Given the description of an element on the screen output the (x, y) to click on. 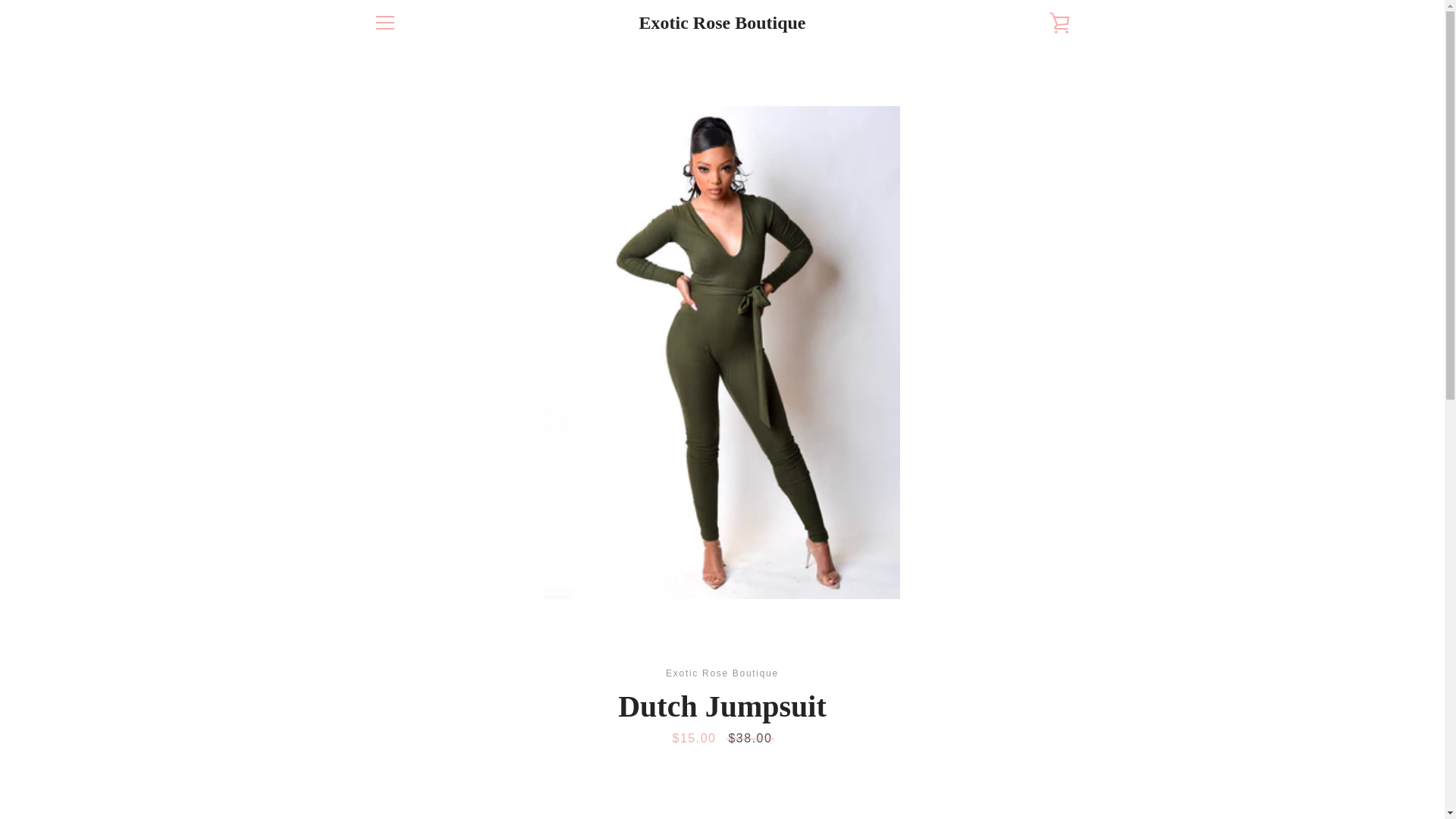
VIEW CART (1059, 22)
Exotic Rose Boutique (722, 23)
MENU (384, 22)
